Given the description of an element on the screen output the (x, y) to click on. 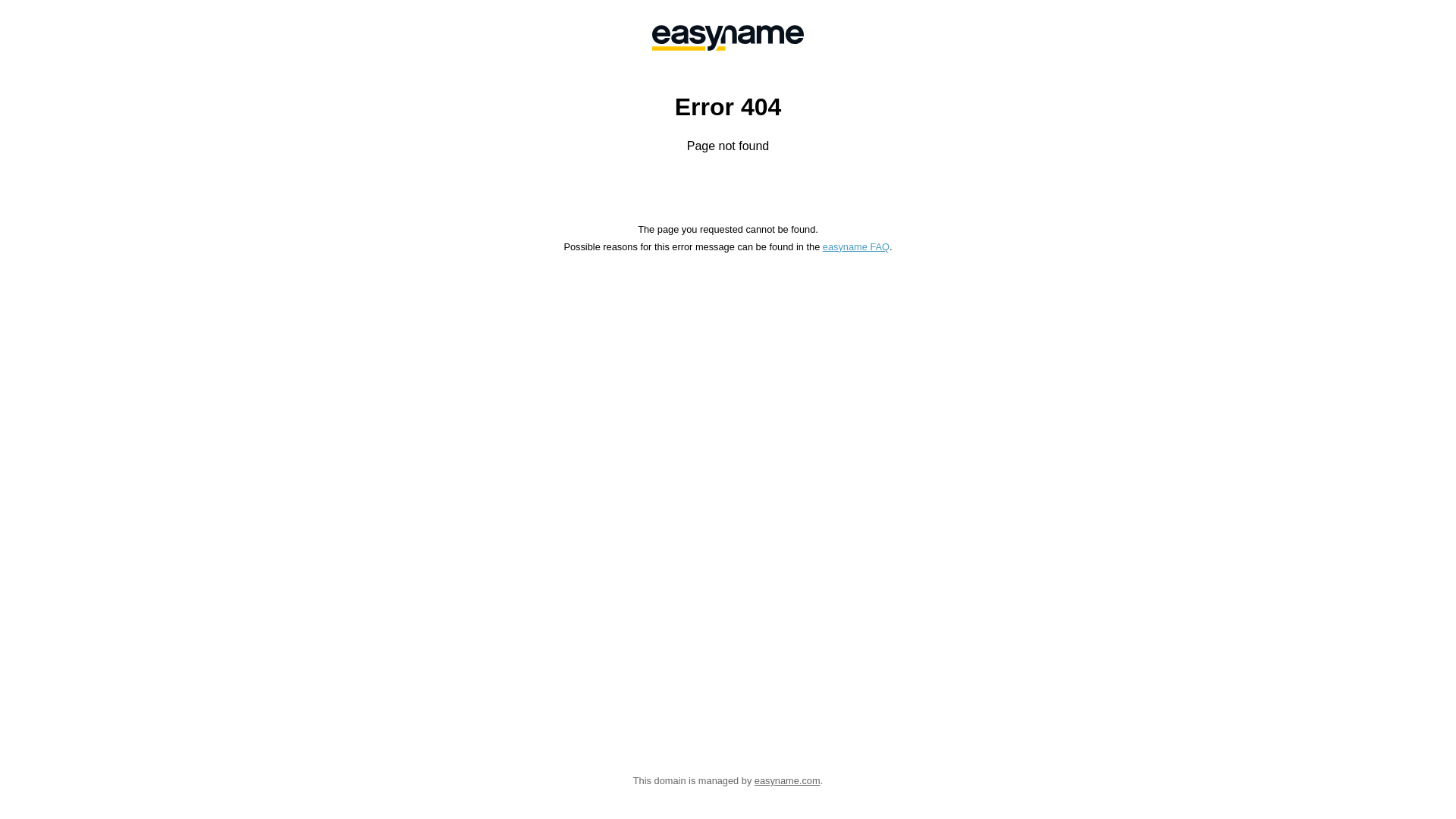
easyname.com Element type: text (787, 780)
easyname GmbH Element type: hover (727, 37)
easyname FAQ Element type: text (855, 246)
